Given the description of an element on the screen output the (x, y) to click on. 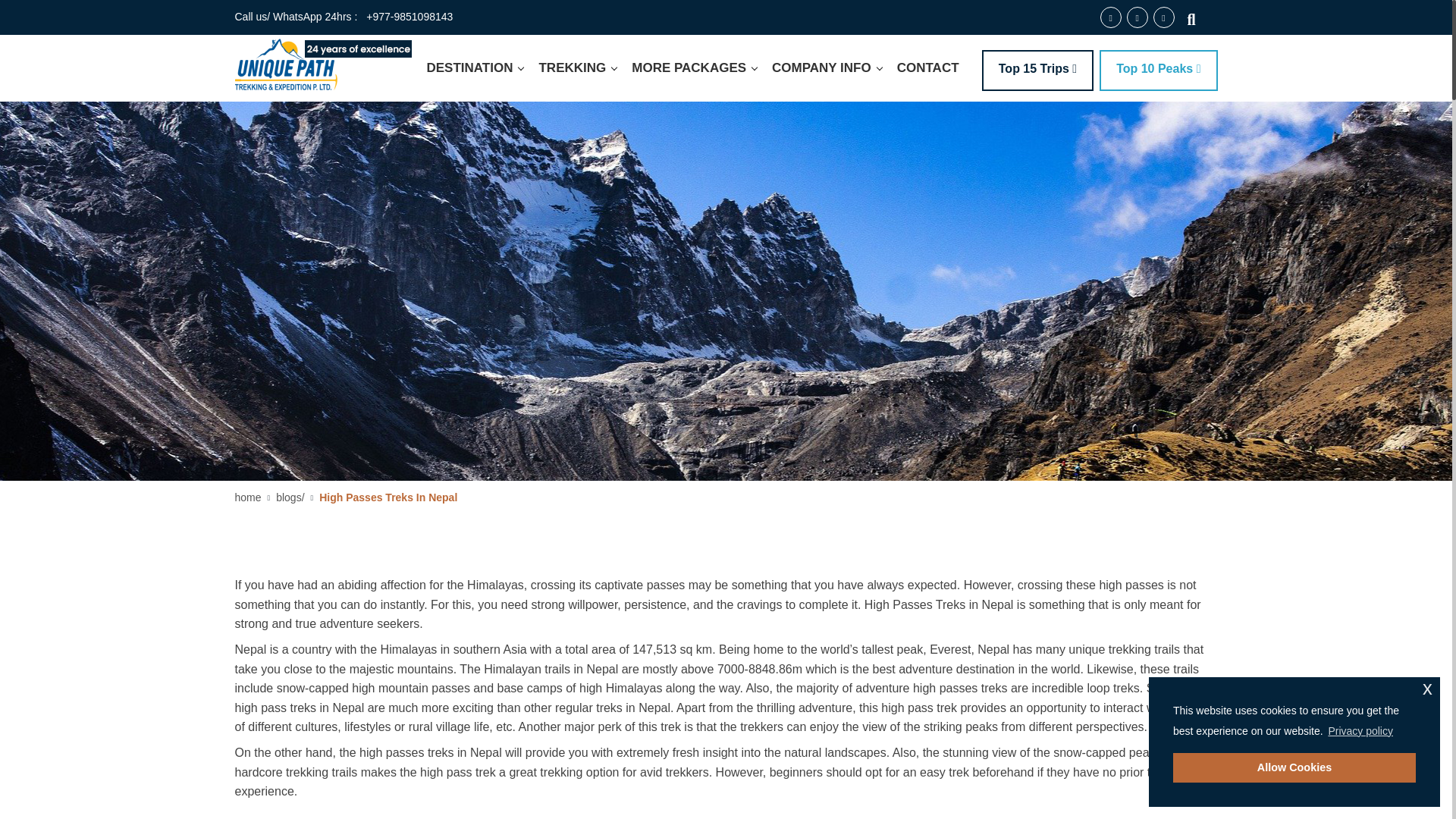
TREKKING (577, 68)
DESTINATION (475, 68)
